Given the description of an element on the screen output the (x, y) to click on. 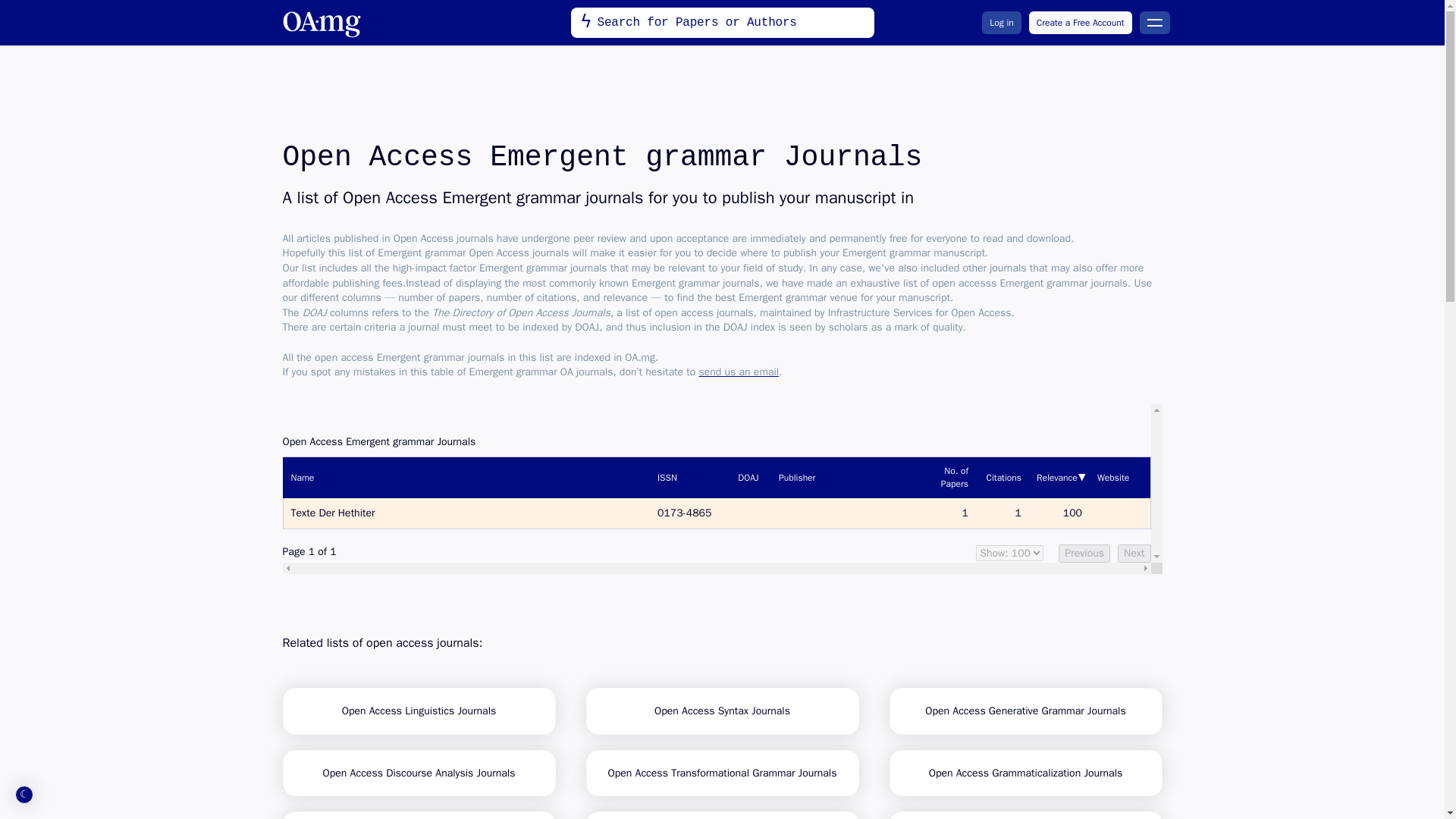
Previous (1083, 553)
Toggle SortBy (847, 477)
Open Access Discourse Analysis Journals (418, 772)
Open Access Grammar Journals (722, 815)
Open Access Lexical Functional Grammar Journals (1024, 815)
Log in (1000, 22)
Toggle SortBy (687, 477)
Open Access Syntax Journals (722, 710)
Open Access Generative Grammar Journals (1024, 710)
Toggle SortBy (748, 477)
Toggle SortBy (1002, 477)
send us an email (738, 371)
Create a Free Account (1080, 22)
Toggle SortBy (1119, 477)
Toggle SortBy (949, 477)
